Given the description of an element on the screen output the (x, y) to click on. 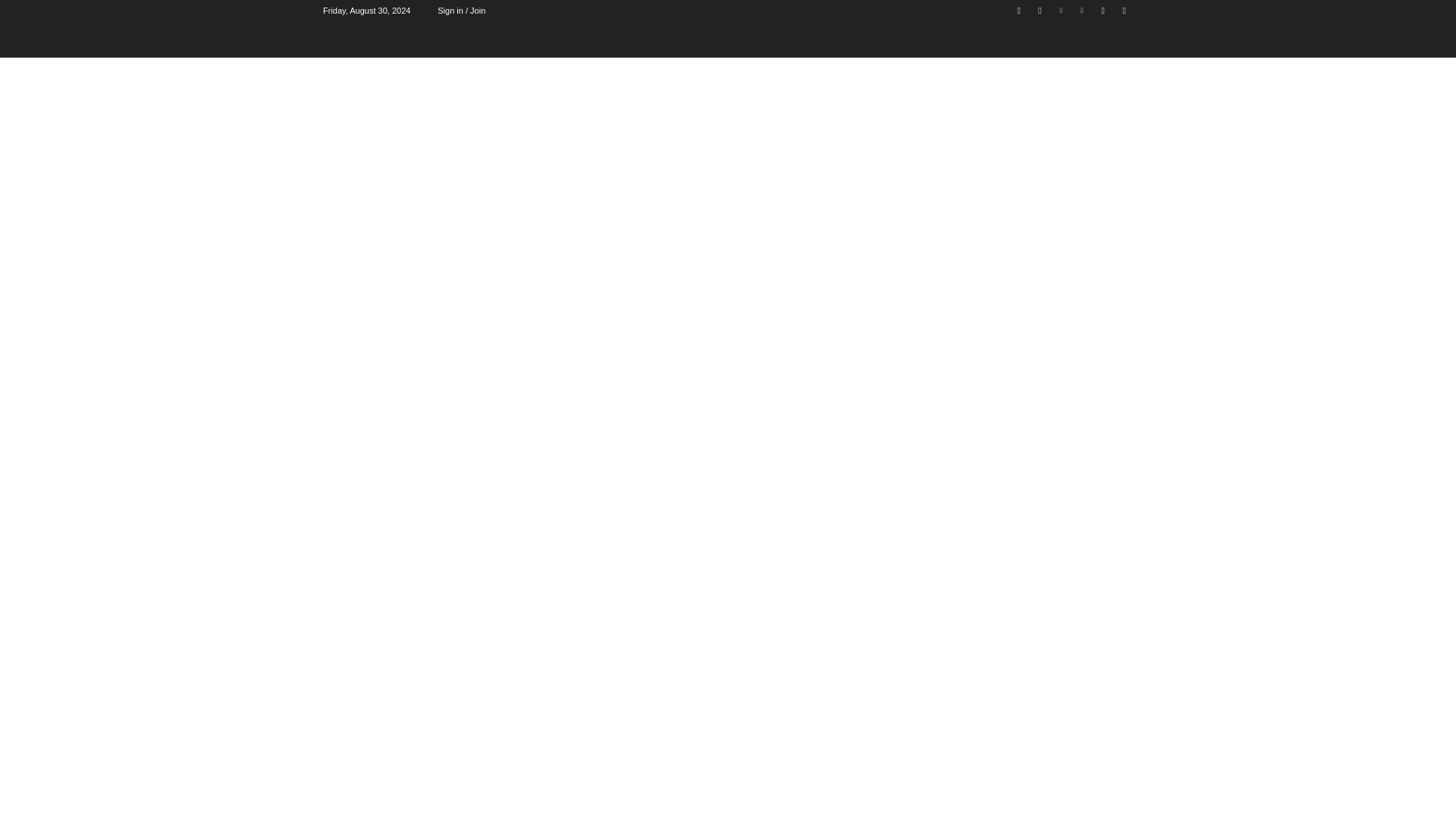
Twitter (1103, 9)
Instagram (1039, 9)
Linkedin (1061, 9)
Pinterest (1082, 9)
Facebook (1018, 9)
Youtube (1123, 9)
